Given the description of an element on the screen output the (x, y) to click on. 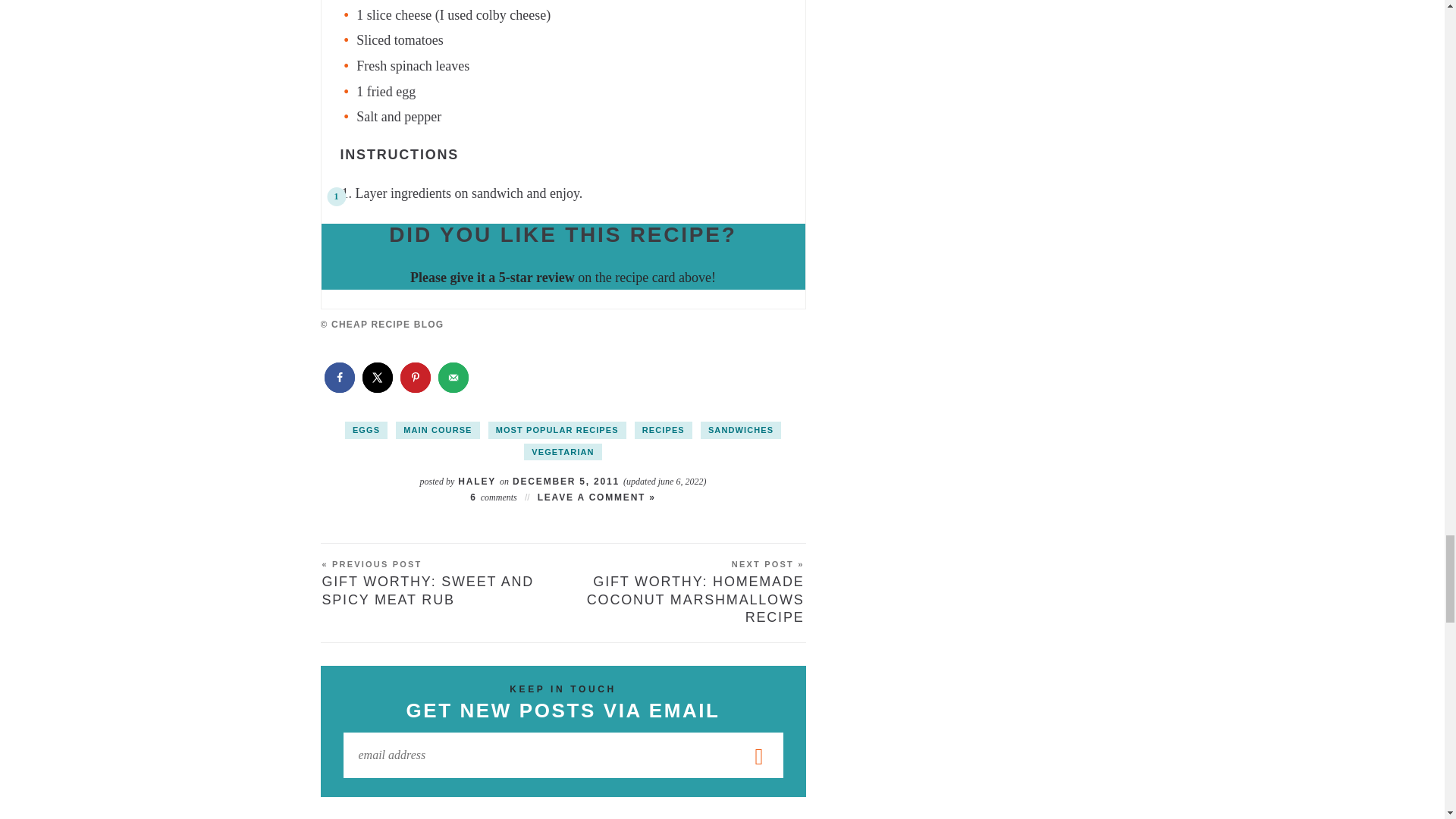
Share on X (377, 377)
Share on Facebook (339, 377)
Send over email (453, 377)
Save to Pinterest (415, 377)
